Given the description of an element on the screen output the (x, y) to click on. 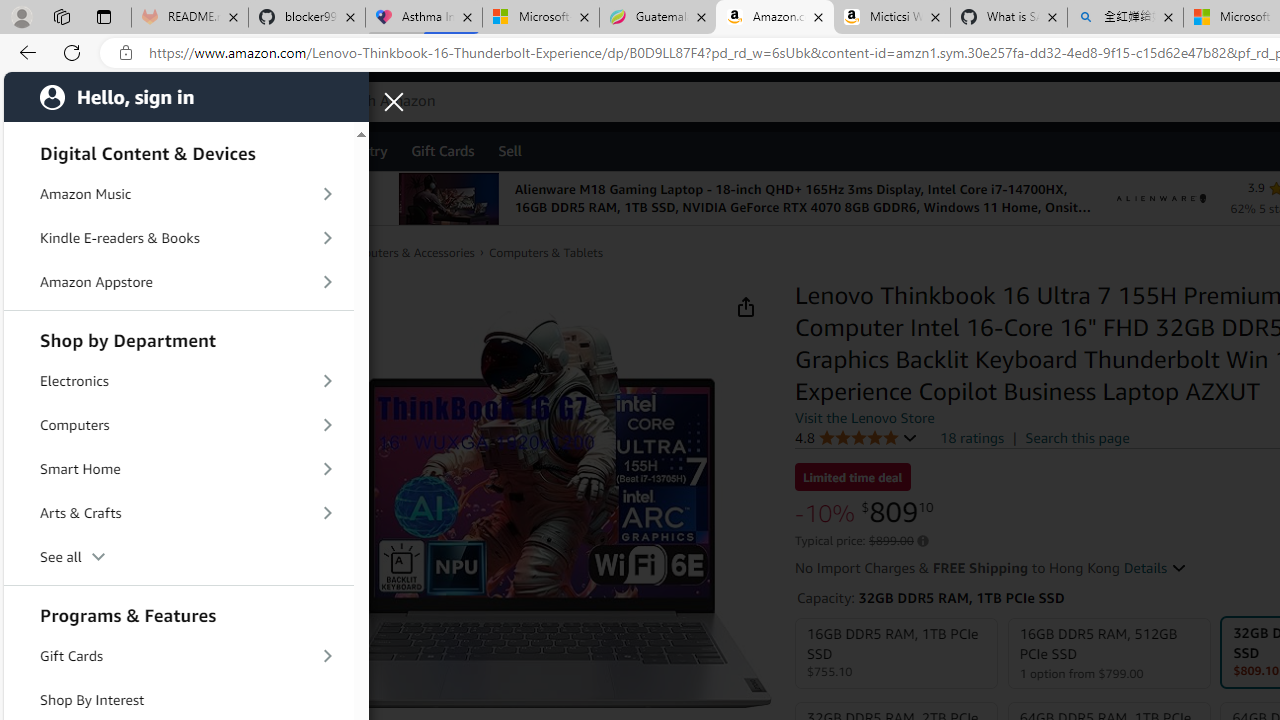
Smart Home (178, 468)
Arts & Crafts (178, 512)
Logo (1161, 198)
Amazon Appstore (178, 281)
Registry (360, 150)
Computers & Tablets (544, 251)
Shop by Department (178, 338)
Kindle E-readers & Books (178, 238)
Hello, sign in (185, 96)
Amazon Appstore (178, 282)
Smart Home (178, 469)
Share (746, 307)
